Given the description of an element on the screen output the (x, y) to click on. 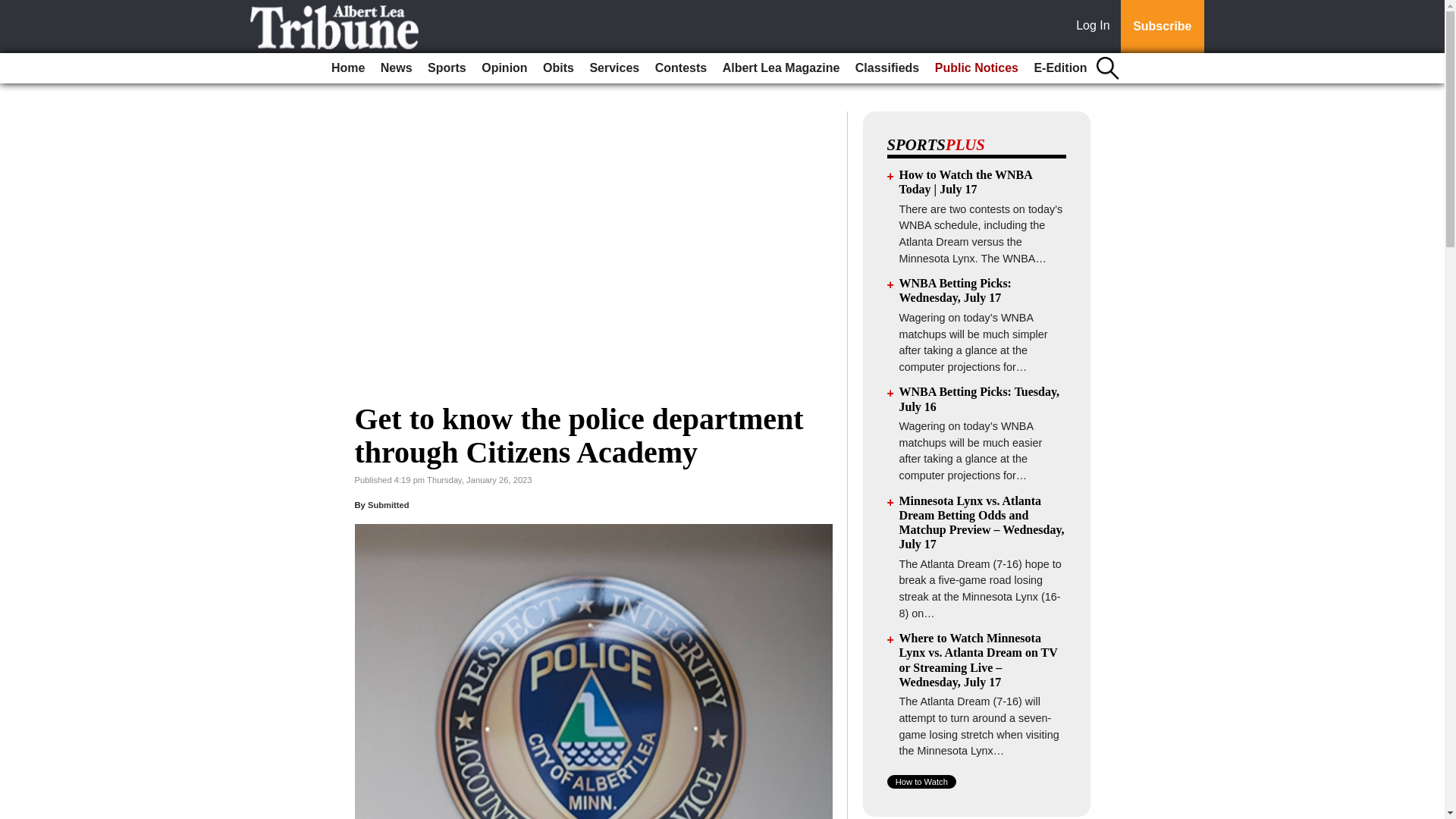
Services (614, 68)
Sports (446, 68)
Subscribe (1162, 26)
Obits (558, 68)
News (396, 68)
Home (347, 68)
Opinion (504, 68)
Log In (1095, 26)
